Given the description of an element on the screen output the (x, y) to click on. 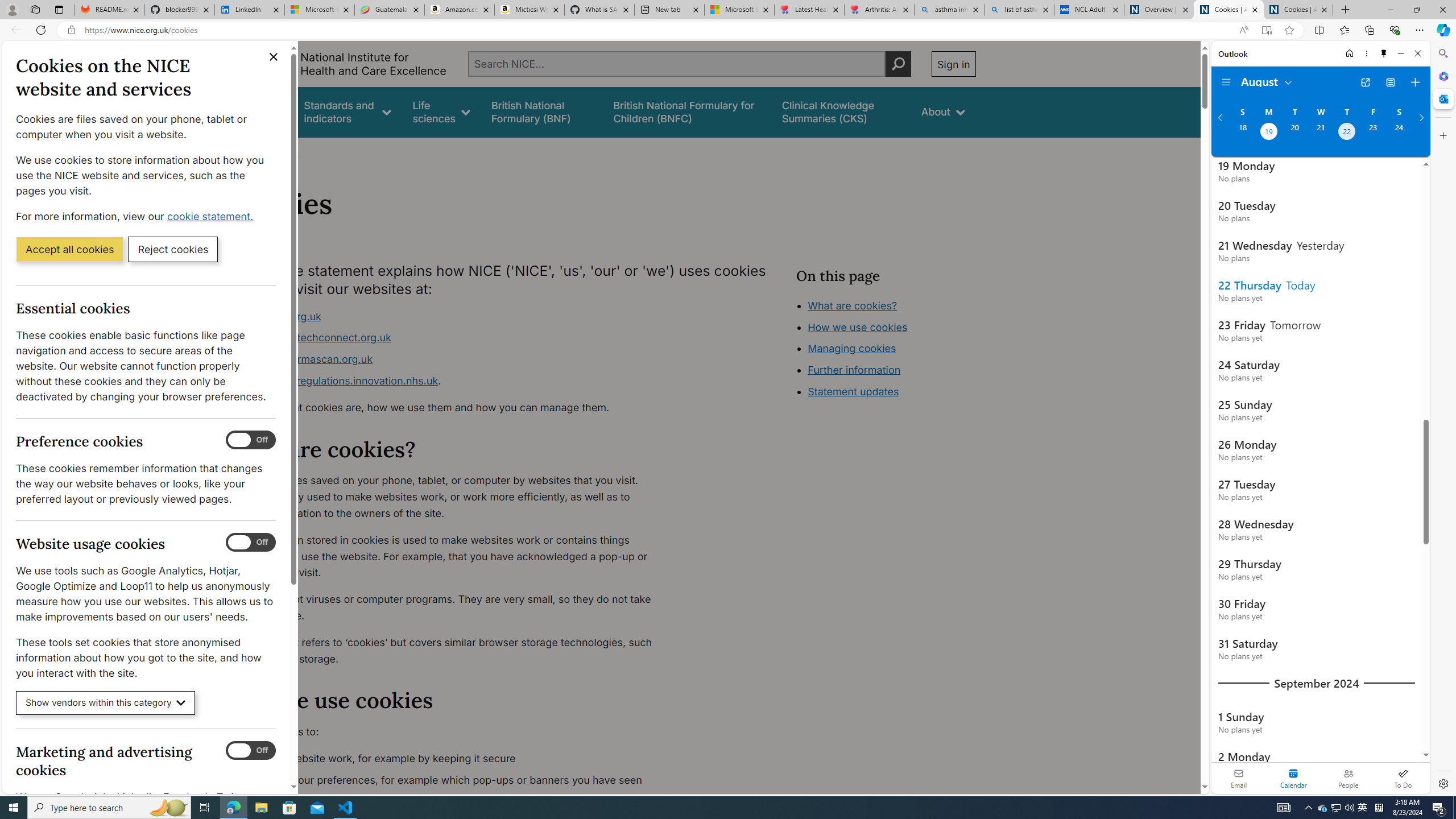
www.healthtechconnect.org.uk (314, 337)
Email (1238, 777)
Selected calendar module. Date today is 22 (1293, 777)
Show vendors within this category (105, 703)
Wednesday, August 21, 2024.  (1320, 132)
Cookies | About | NICE (1297, 9)
